Given the description of an element on the screen output the (x, y) to click on. 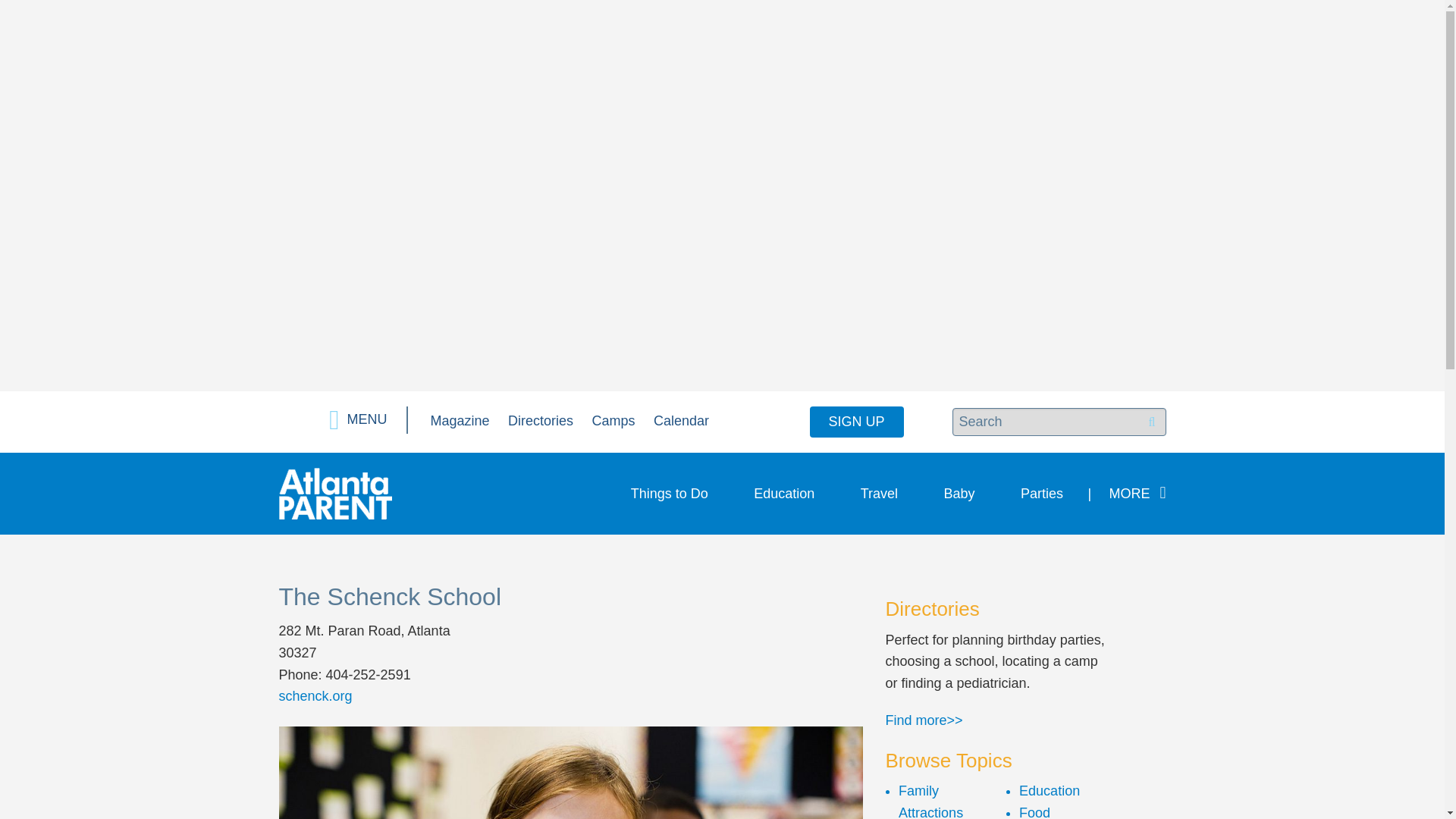
Calendar (681, 420)
Camps (612, 420)
MENU (358, 420)
Magazine (459, 420)
Atlanta Parent (335, 492)
SIGN UP (856, 421)
Directories (540, 420)
